Given the description of an element on the screen output the (x, y) to click on. 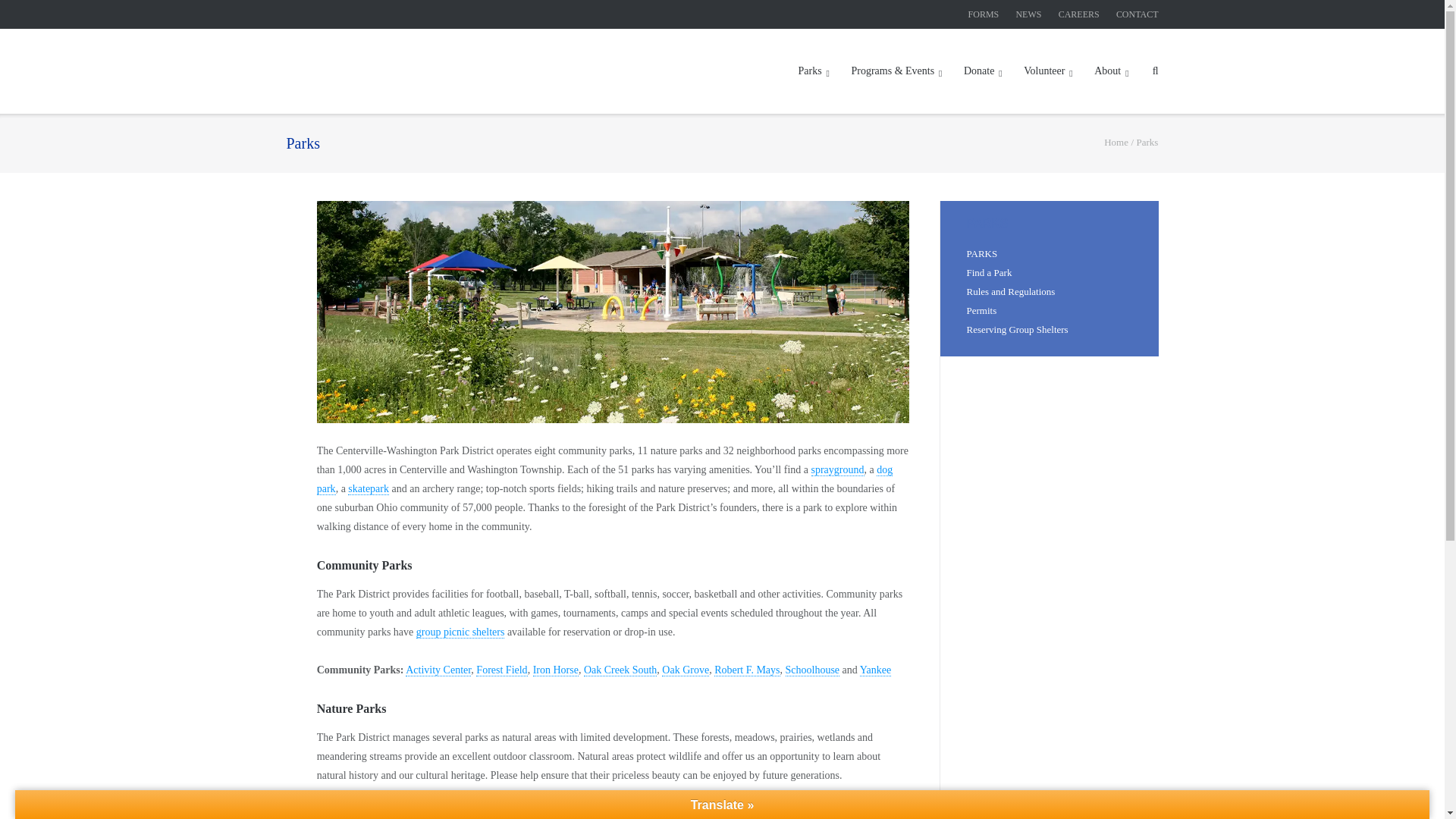
CAREERS (1078, 14)
NEWS (1027, 14)
Find a Park (988, 272)
PARKS (981, 253)
CONTACT (1137, 14)
FORMS (983, 14)
Centerville-Washington Park District (1115, 142)
Home (1115, 142)
